Given the description of an element on the screen output the (x, y) to click on. 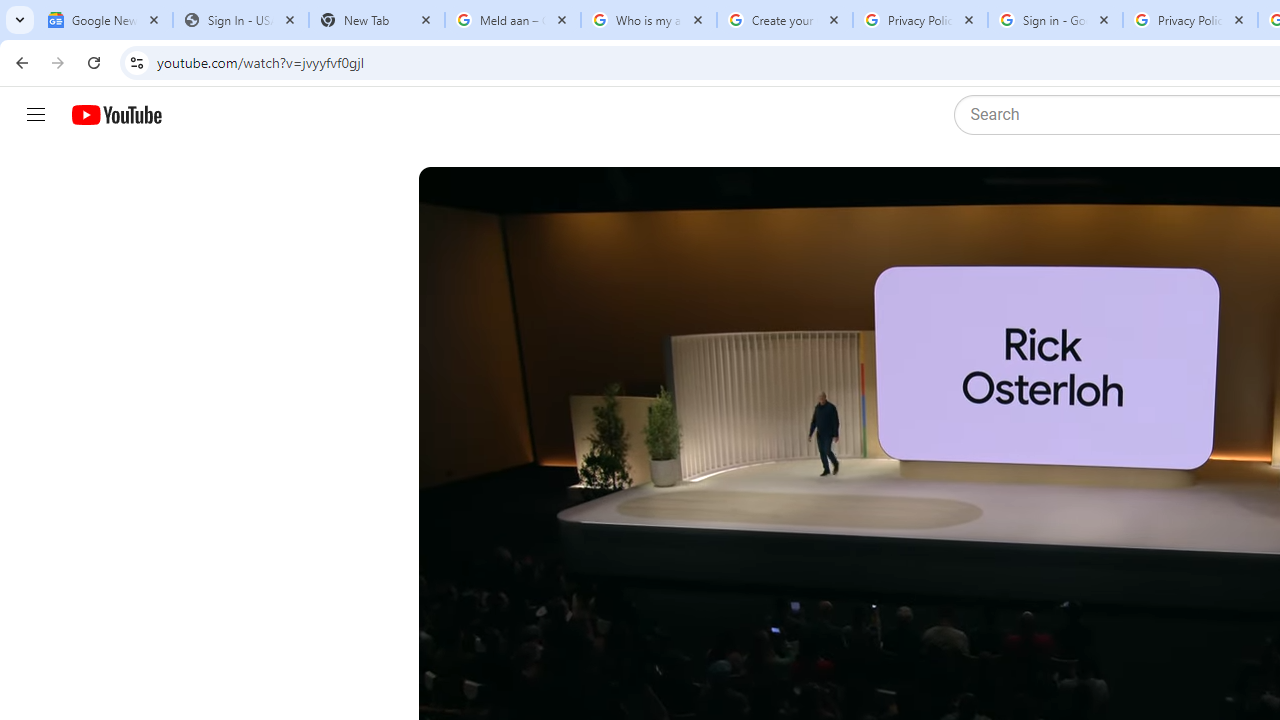
Guide (35, 115)
YouTube Home (116, 115)
New Tab (376, 20)
Sign in - Google Accounts (1055, 20)
Who is my administrator? - Google Account Help (648, 20)
Sign In - USA TODAY (240, 20)
